Given the description of an element on the screen output the (x, y) to click on. 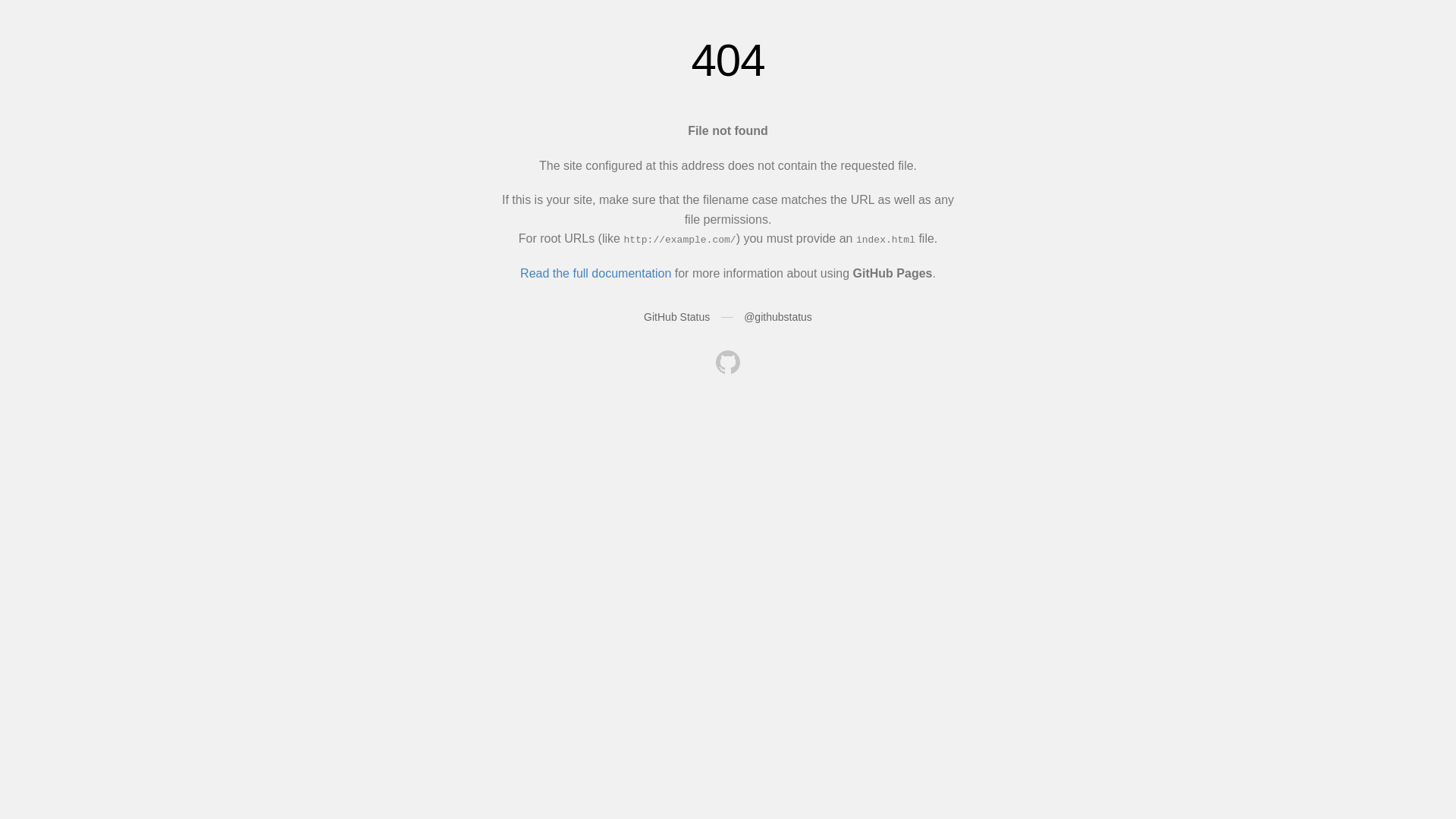
GitHub Status Element type: text (676, 316)
Read the full documentation Element type: text (595, 272)
@githubstatus Element type: text (777, 316)
